Given the description of an element on the screen output the (x, y) to click on. 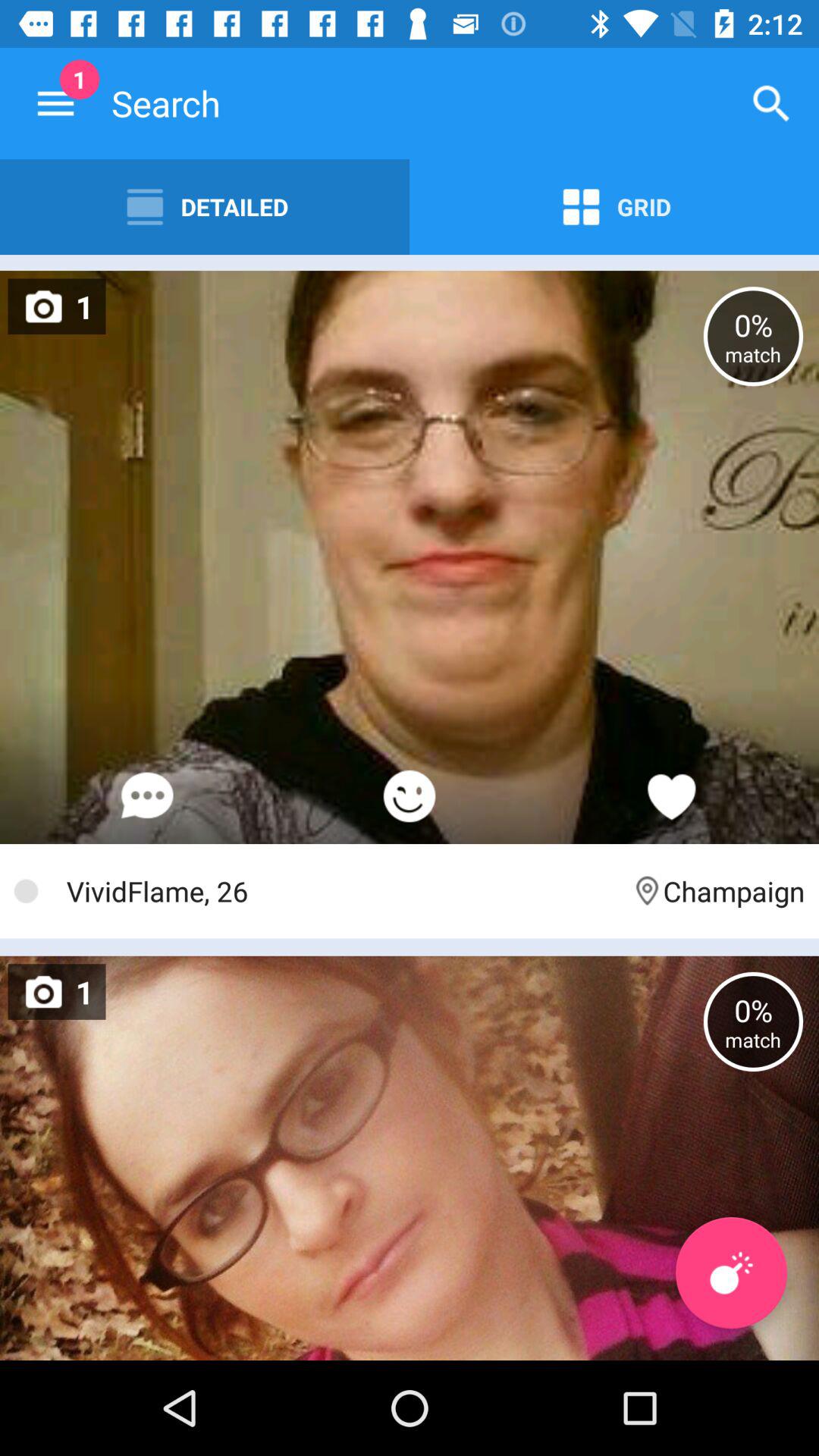
launch the item to the right of the search item (771, 103)
